Given the description of an element on the screen output the (x, y) to click on. 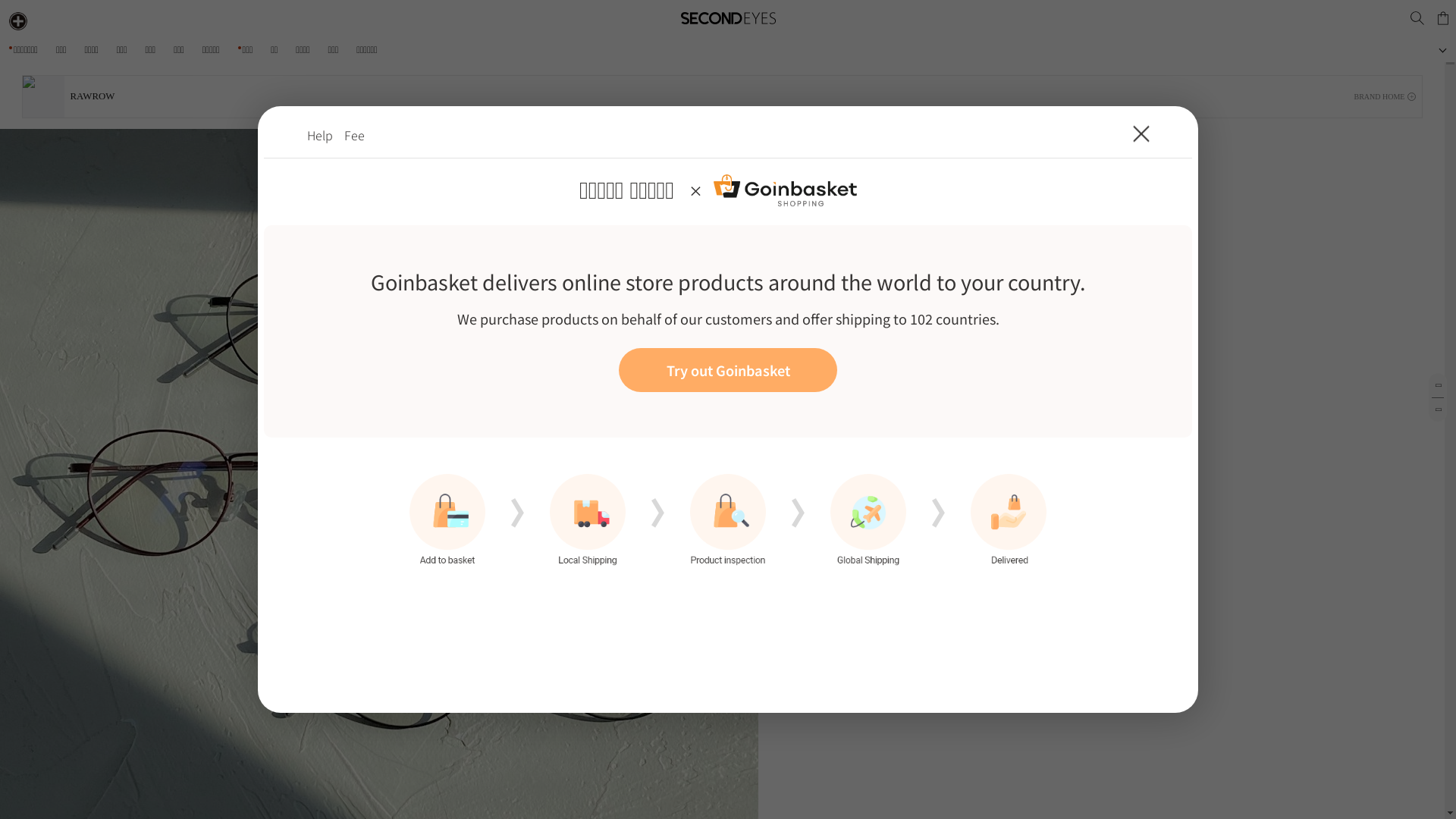
First Layer Element type: hover (727, 409)
  Element type: text (1417, 18)
  RAWROW
BRAND HOME Element type: text (722, 96)
